Given the description of an element on the screen output the (x, y) to click on. 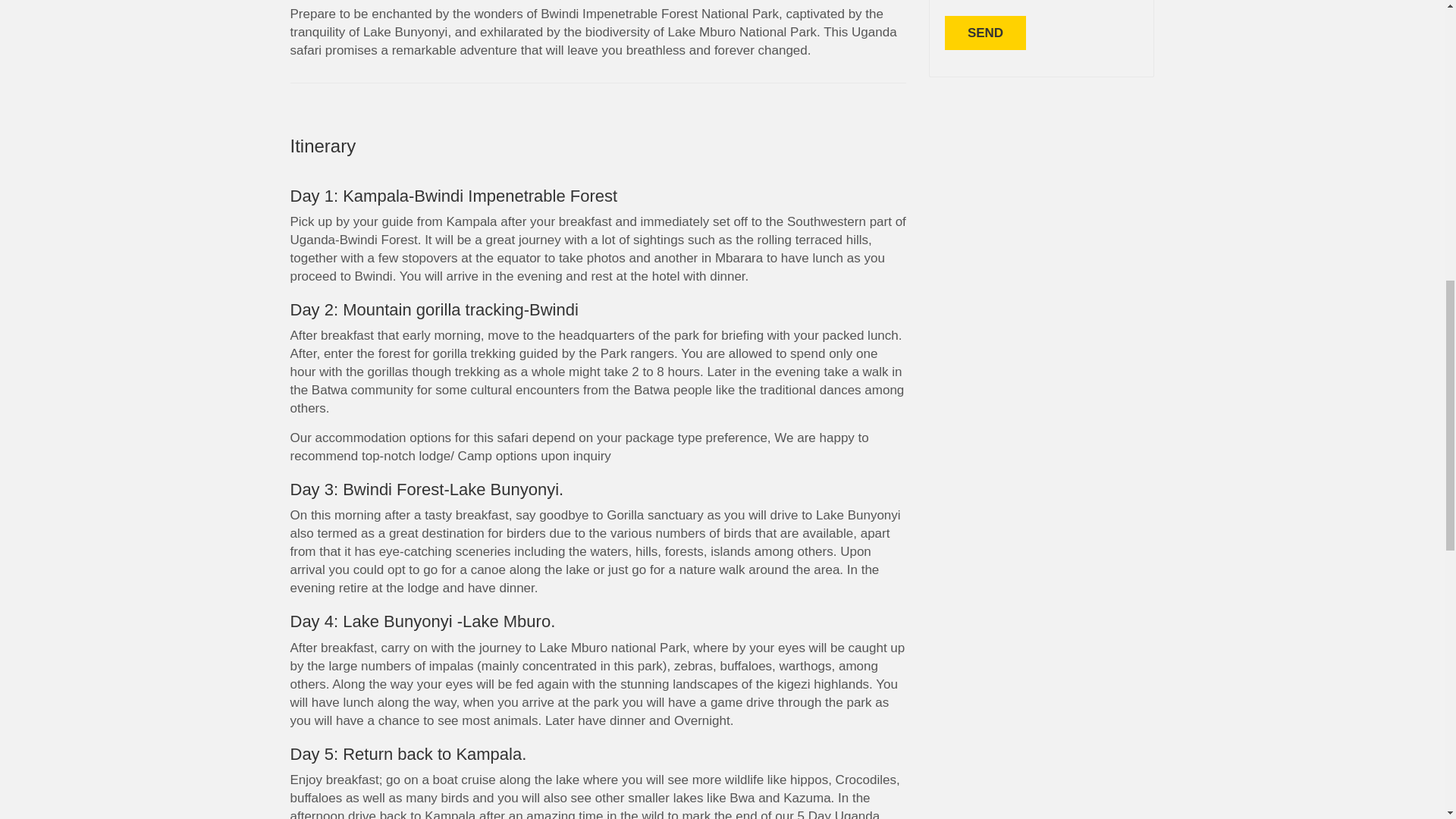
Send (985, 32)
Send (985, 32)
